Given the description of an element on the screen output the (x, y) to click on. 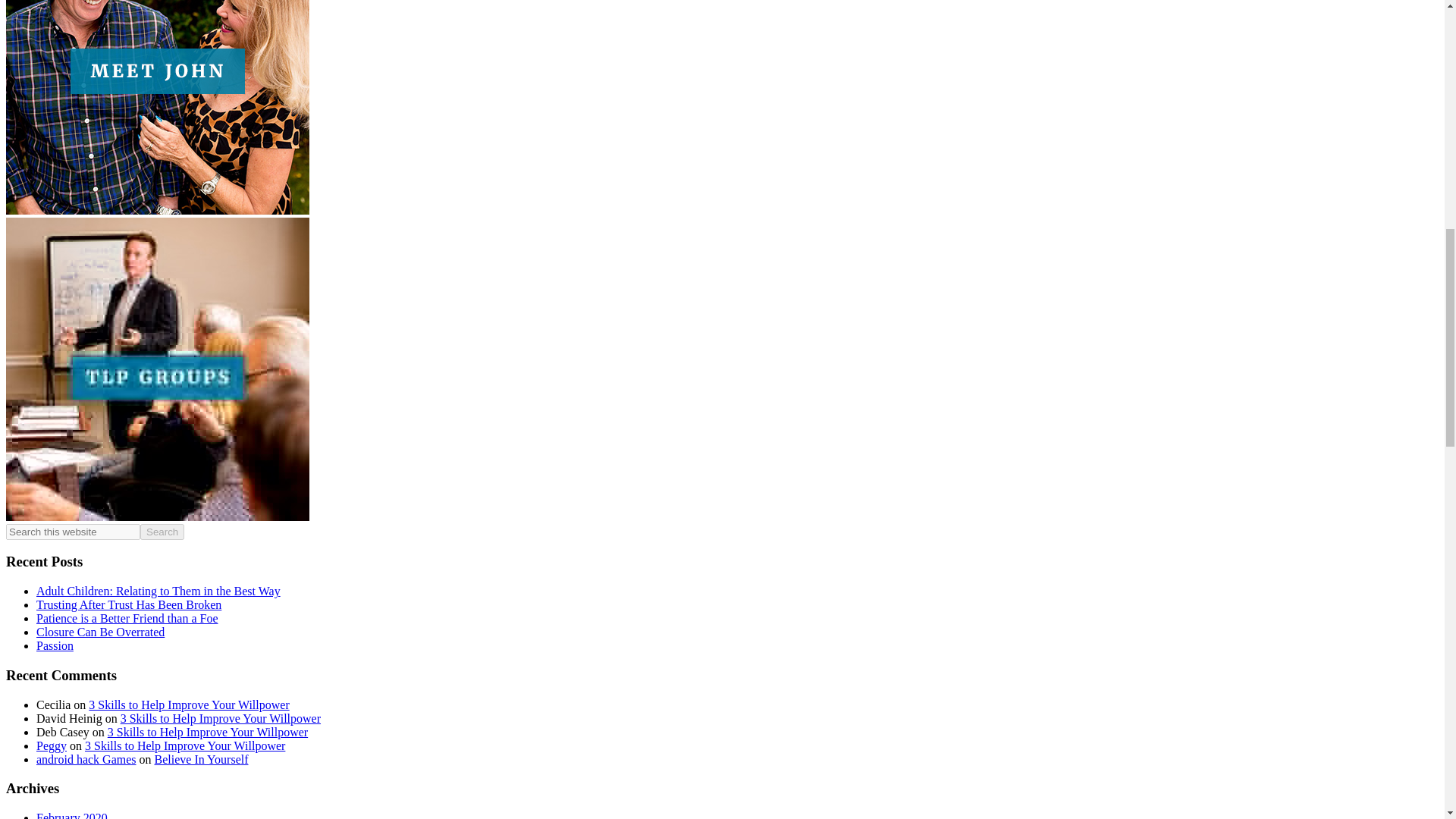
Believe In Yourself (201, 758)
3 Skills to Help Improve Your Willpower (188, 704)
Patience is a Better Friend than a Foe (126, 617)
3 Skills to Help Improve Your Willpower (184, 745)
Search (161, 531)
android hack Games (86, 758)
February 2020 (71, 815)
Peggy (51, 745)
3 Skills to Help Improve Your Willpower (220, 717)
Search (161, 531)
